Given the description of an element on the screen output the (x, y) to click on. 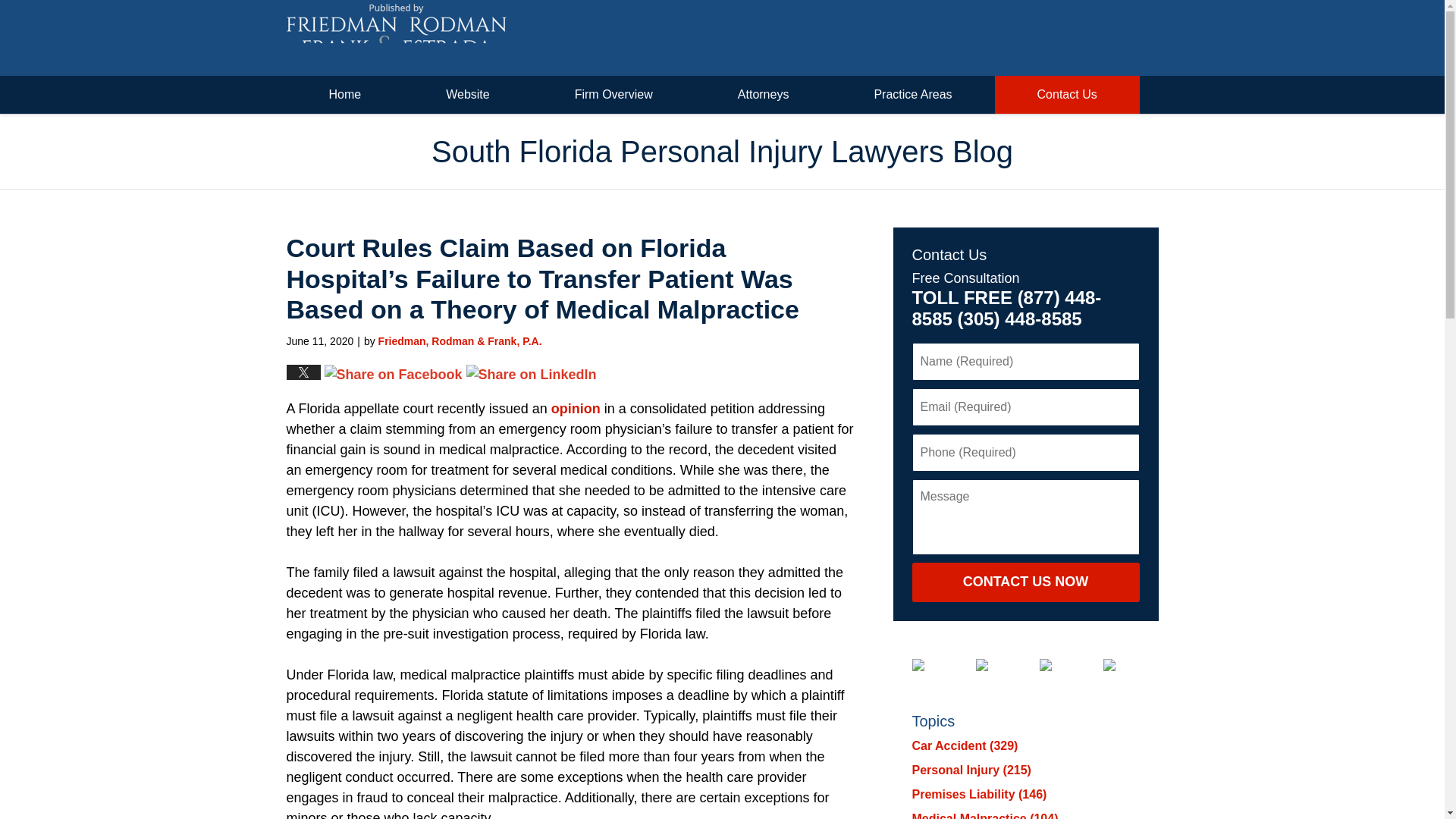
opinion (575, 408)
Firm Overview (613, 94)
CONTACT US NOW (1024, 581)
Home (345, 94)
Attorneys (763, 94)
Justia (1057, 664)
Contact Us (1067, 94)
Website (467, 94)
South Florida Personal Injury Lawyers Blog (396, 37)
Feed (1120, 664)
